Given the description of an element on the screen output the (x, y) to click on. 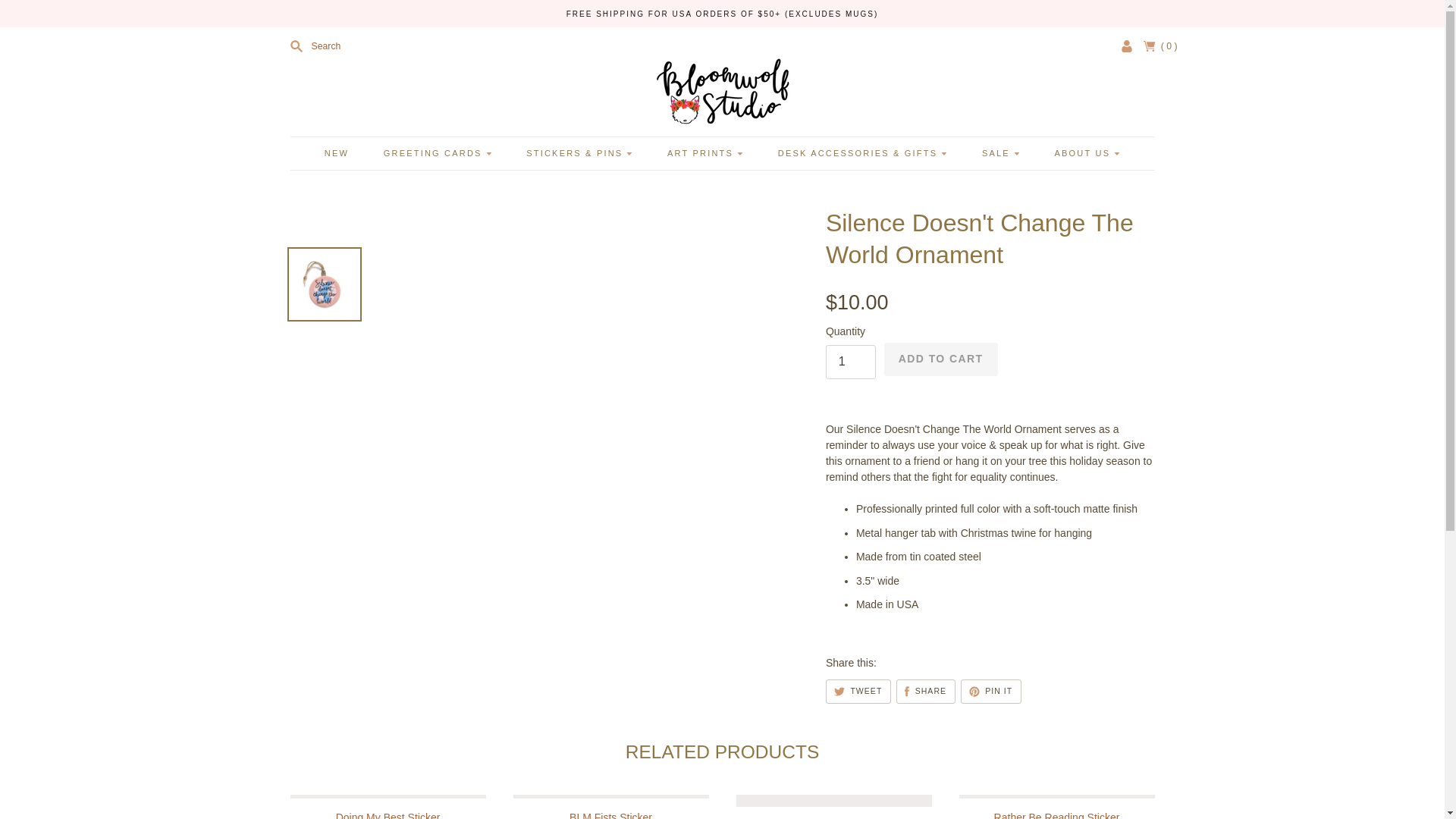
1 (850, 361)
NEW (336, 153)
Login (1126, 46)
